Given the description of an element on the screen output the (x, y) to click on. 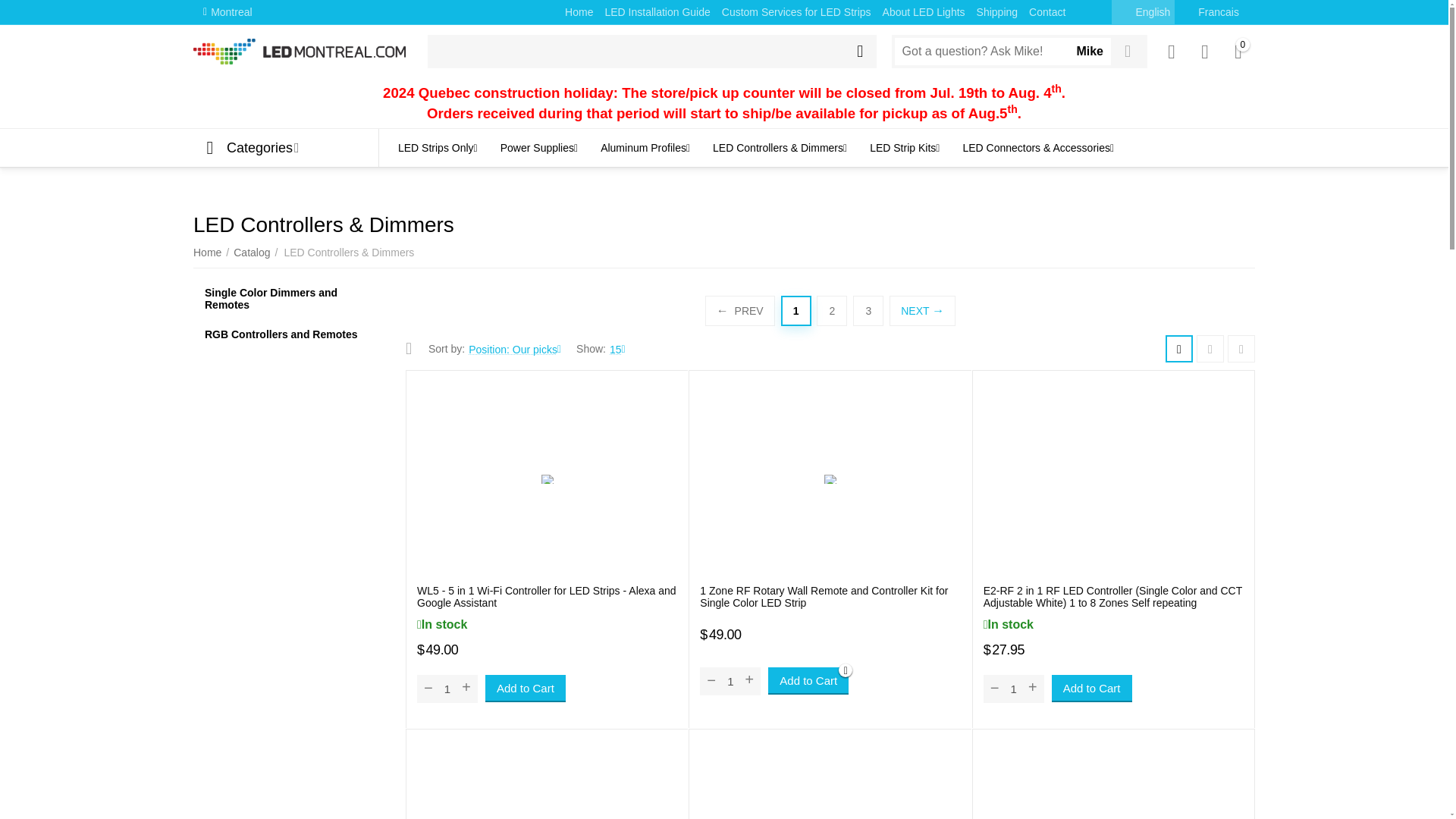
Search (859, 51)
Languages (1122, 11)
English (1143, 12)
Search products (652, 51)
Change language (1208, 12)
Francais (1208, 12)
Montreal (227, 12)
Change language (1143, 12)
Languages (1185, 11)
